Given the description of an element on the screen output the (x, y) to click on. 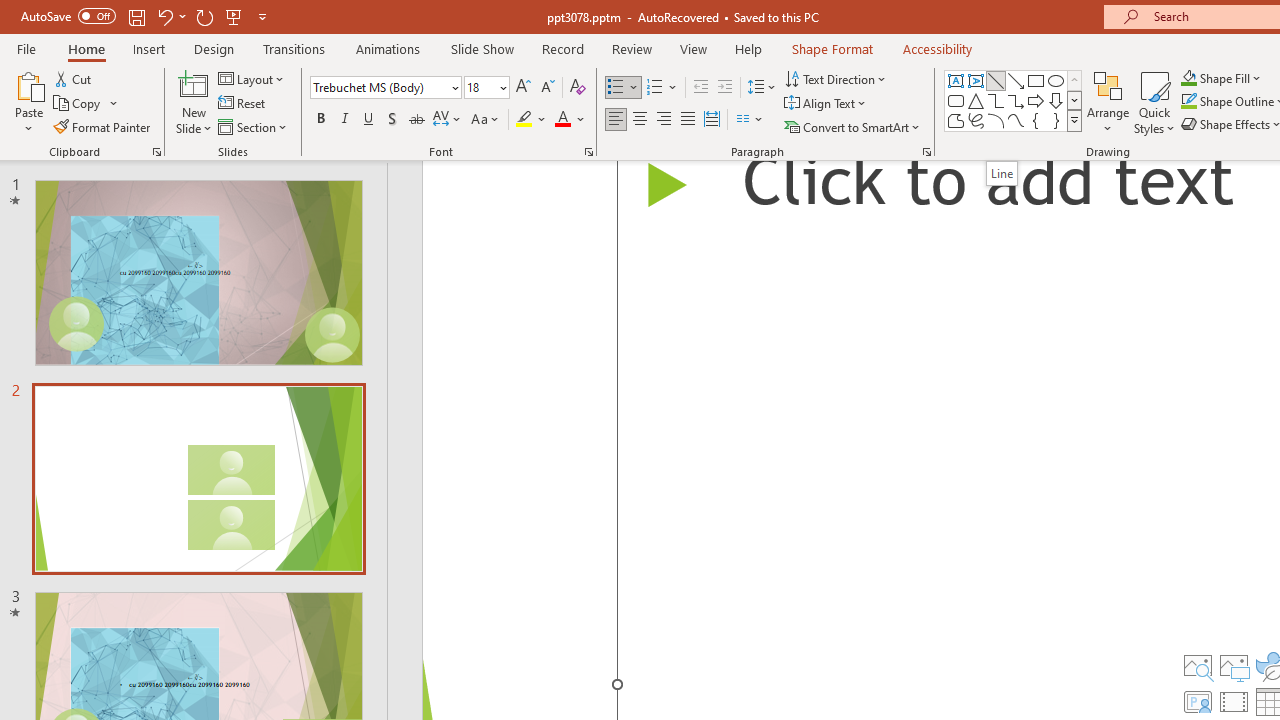
Change Case (486, 119)
Paragraph... (926, 151)
Shapes (1074, 120)
Paste (28, 84)
Strikethrough (416, 119)
Bullets (623, 87)
Align Text (826, 103)
Align Left (616, 119)
Font Color Red (562, 119)
Decrease Font Size (547, 87)
